Given the description of an element on the screen output the (x, y) to click on. 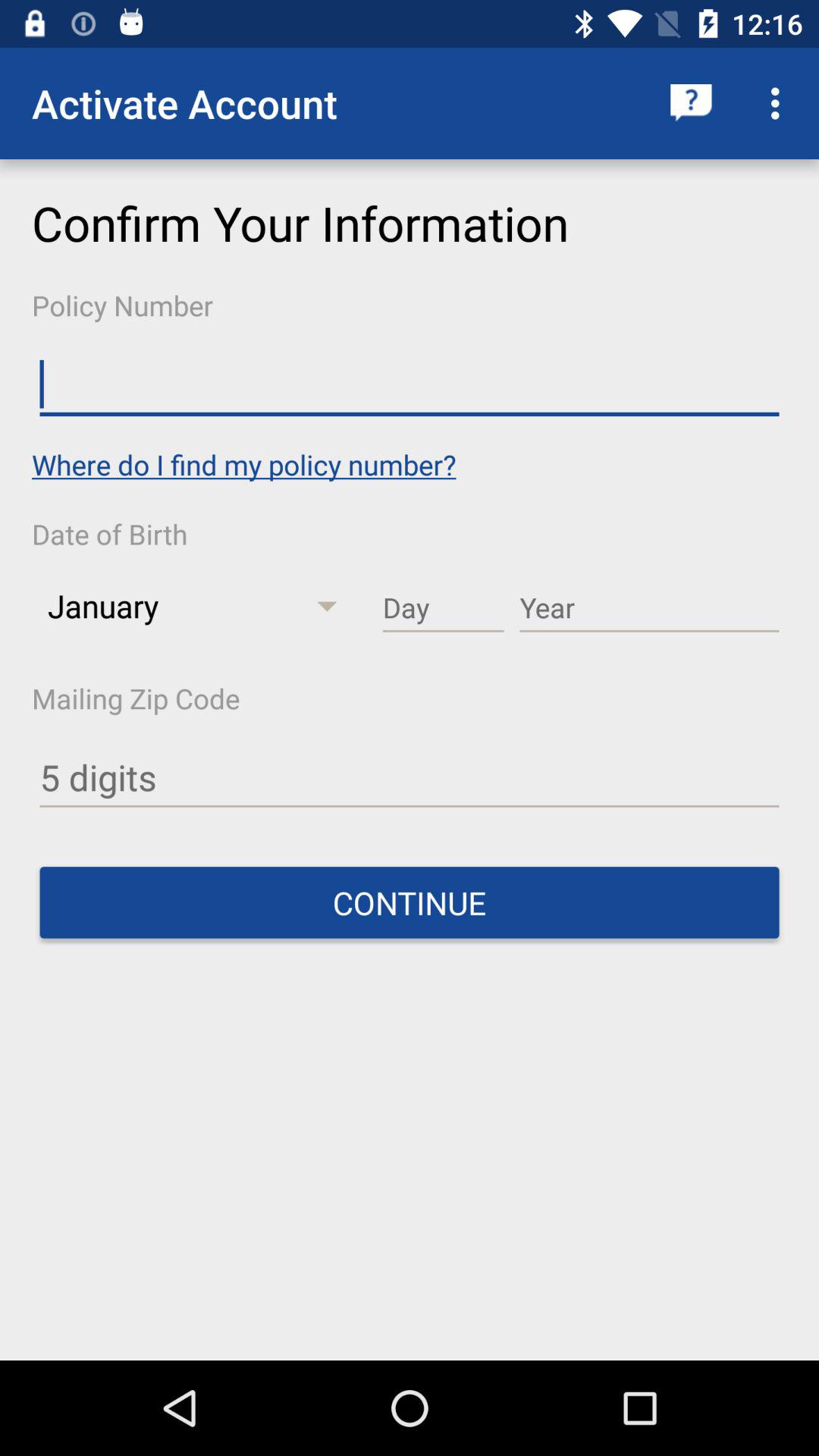
jump to the where do i icon (243, 464)
